Given the description of an element on the screen output the (x, y) to click on. 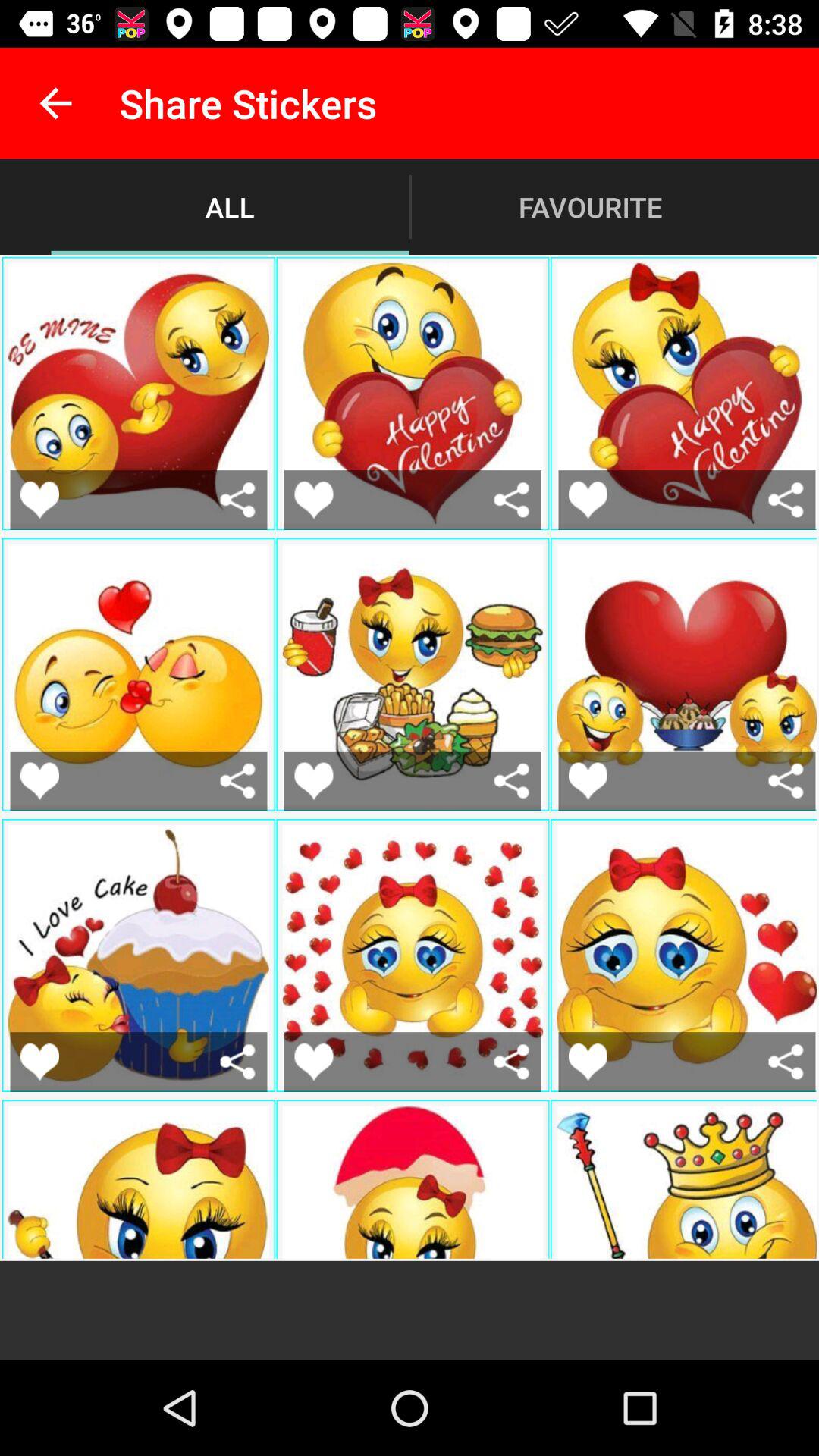
birthday and love cake (237, 1061)
